Given the description of an element on the screen output the (x, y) to click on. 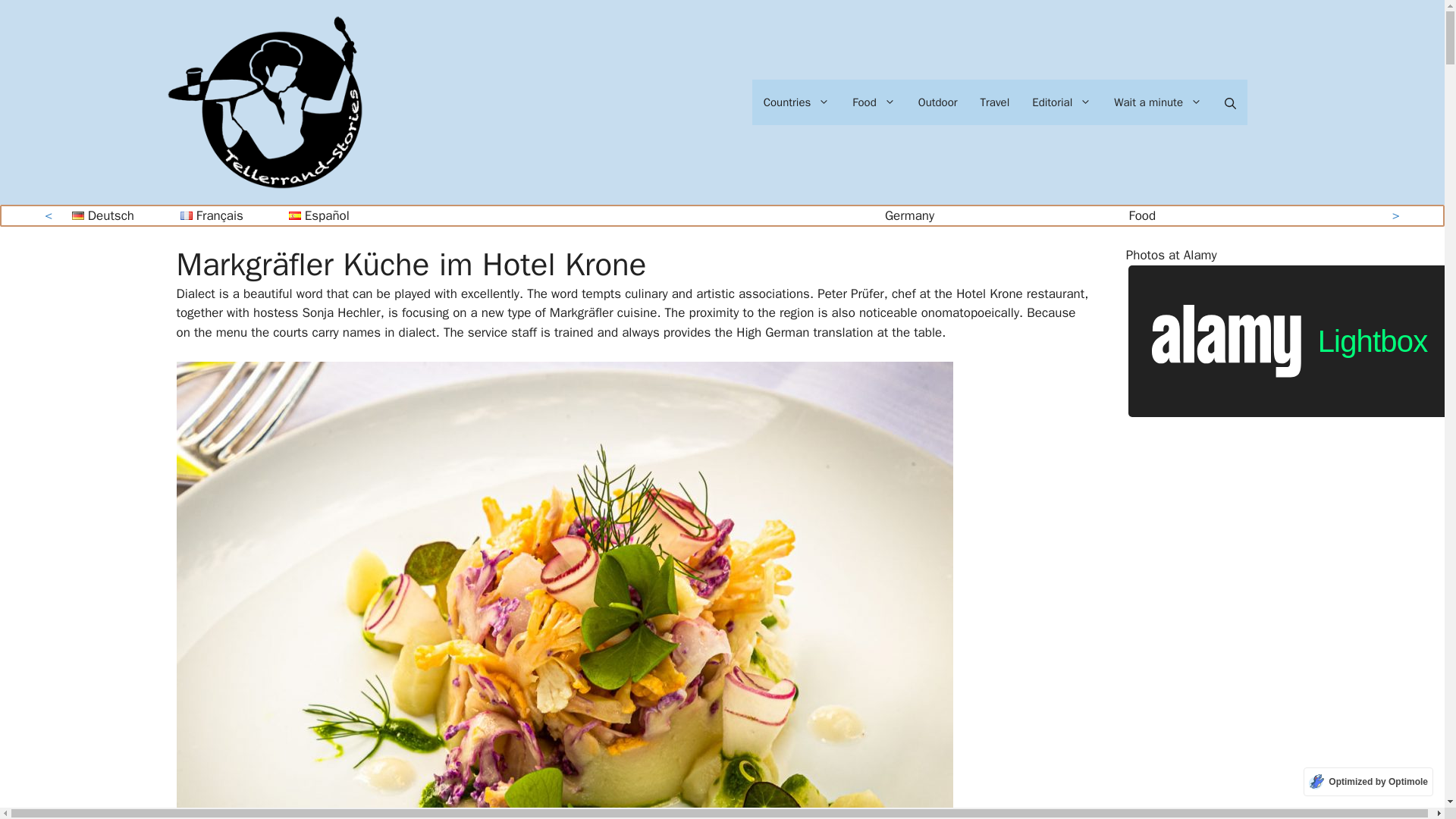
Travel (995, 102)
Editorial (1061, 102)
Lightbox (1235, 318)
Outdoor (938, 102)
Germany (909, 215)
Wait a minute (1157, 102)
Food (1142, 215)
Deutsch (102, 216)
Countries (796, 102)
Food (873, 102)
Alle Fotos zu diesem Thema (1235, 318)
